Given the description of an element on the screen output the (x, y) to click on. 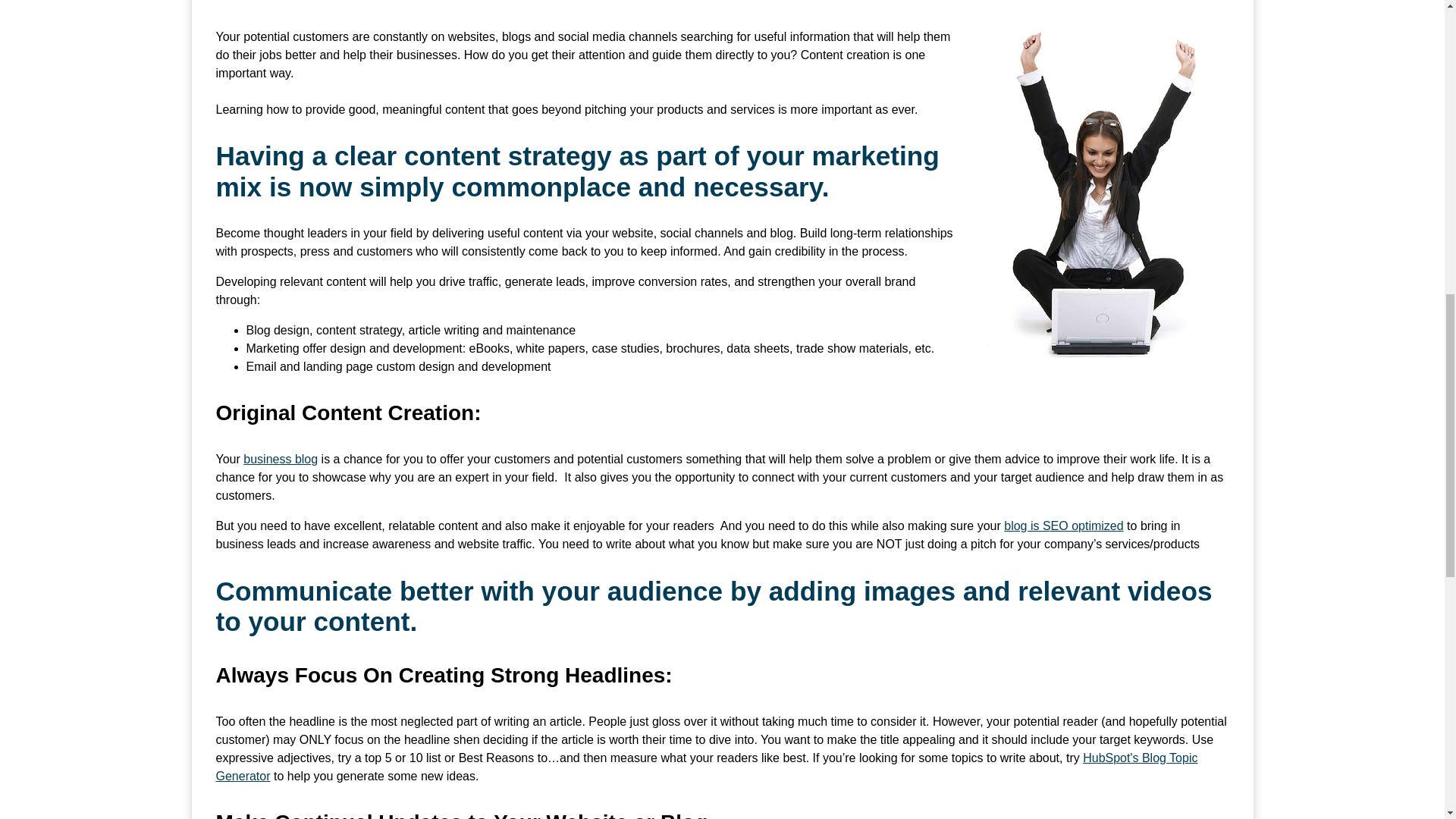
business blog (280, 459)
HubSpot's Blog Topic Generator (705, 766)
blog is SEO optimized (1063, 525)
